Given the description of an element on the screen output the (x, y) to click on. 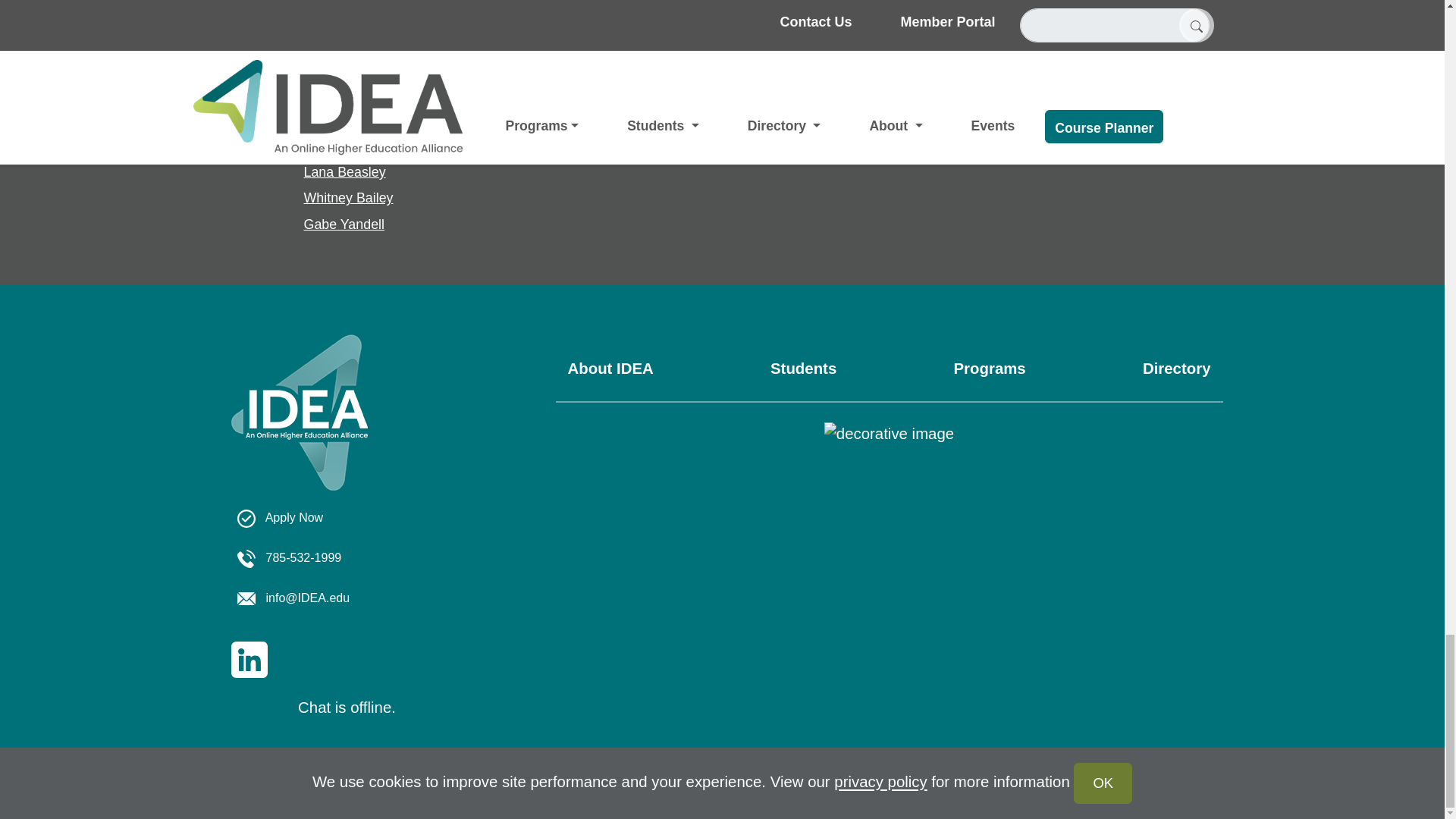
Call IDEA (287, 557)
Email IDEA (292, 597)
Go to home page (298, 429)
LinkedIn (248, 658)
Apply (279, 517)
